Given the description of an element on the screen output the (x, y) to click on. 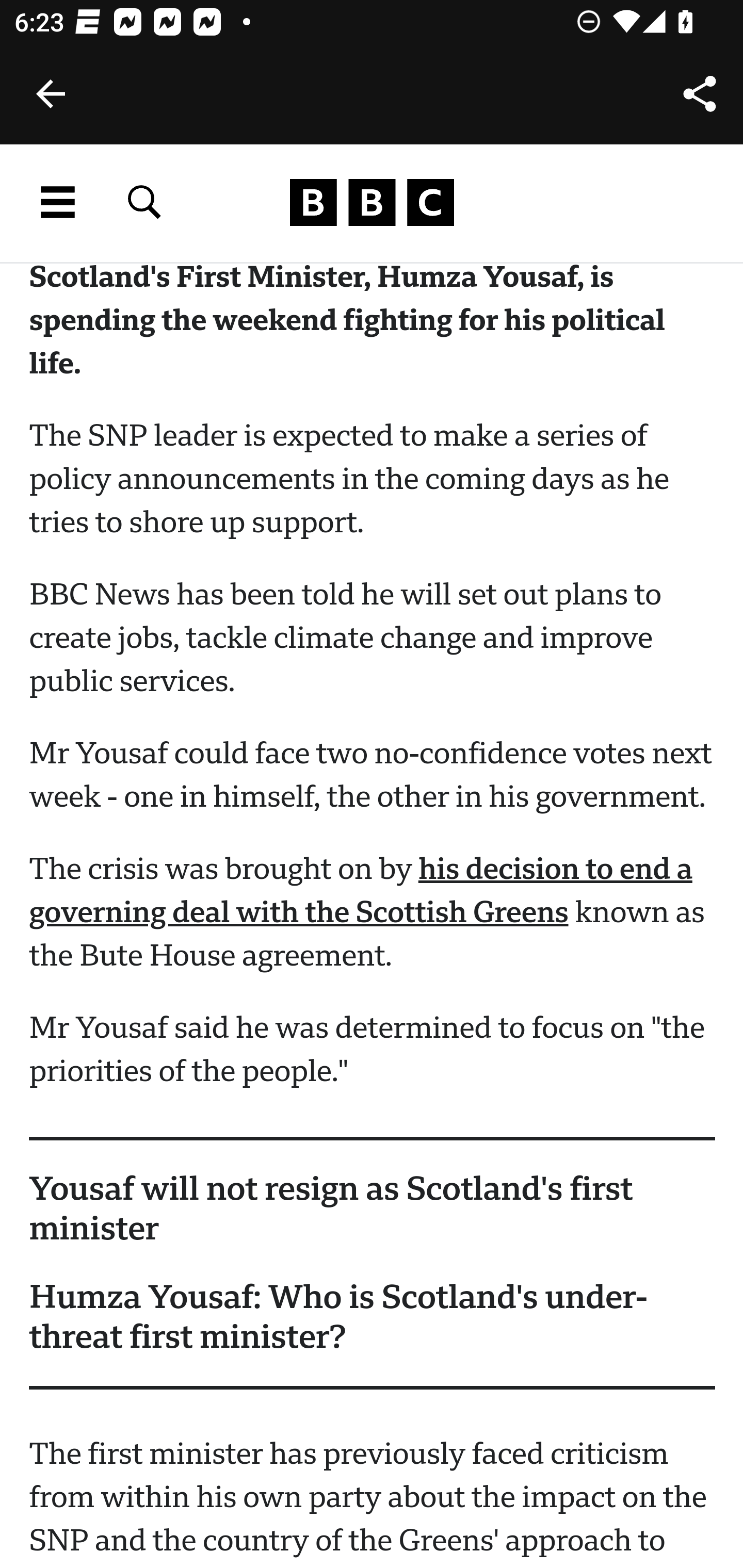
Back (50, 93)
Share (699, 93)
www.bbc (371, 203)
